Given the description of an element on the screen output the (x, y) to click on. 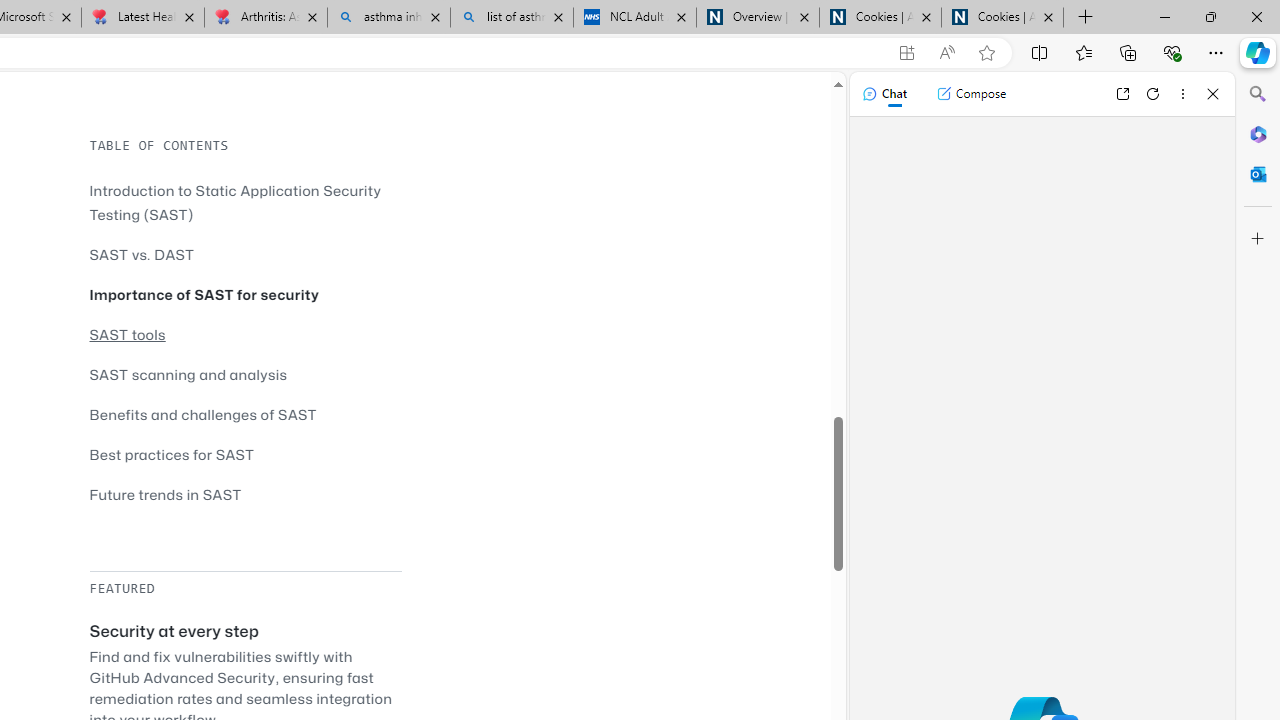
SAST vs. DAST (245, 254)
